Given the description of an element on the screen output the (x, y) to click on. 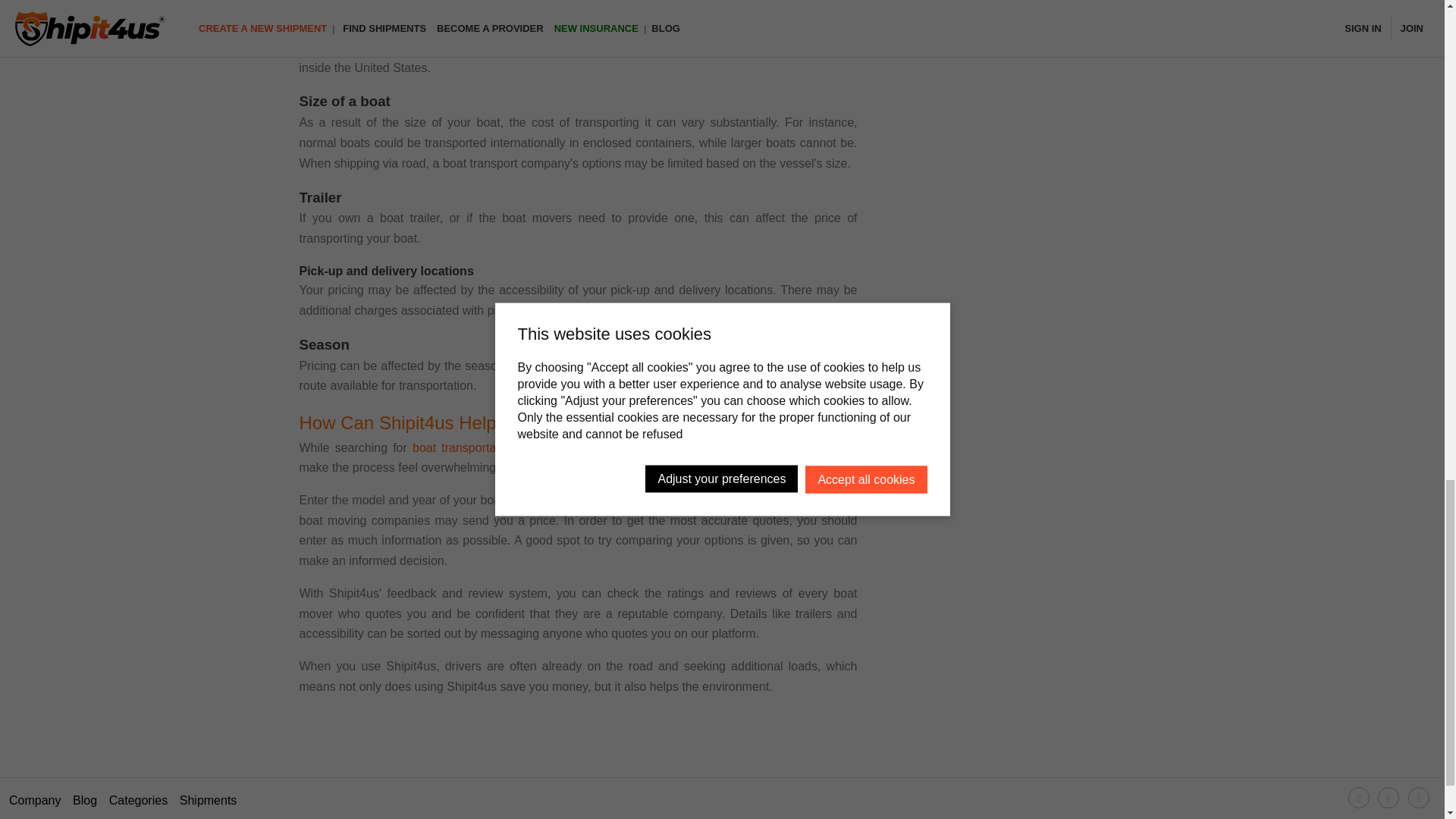
boat transportation (463, 447)
Categories (138, 800)
Shipments (208, 800)
Blog (84, 800)
Company (34, 800)
boat shipping (427, 26)
